Given the description of an element on the screen output the (x, y) to click on. 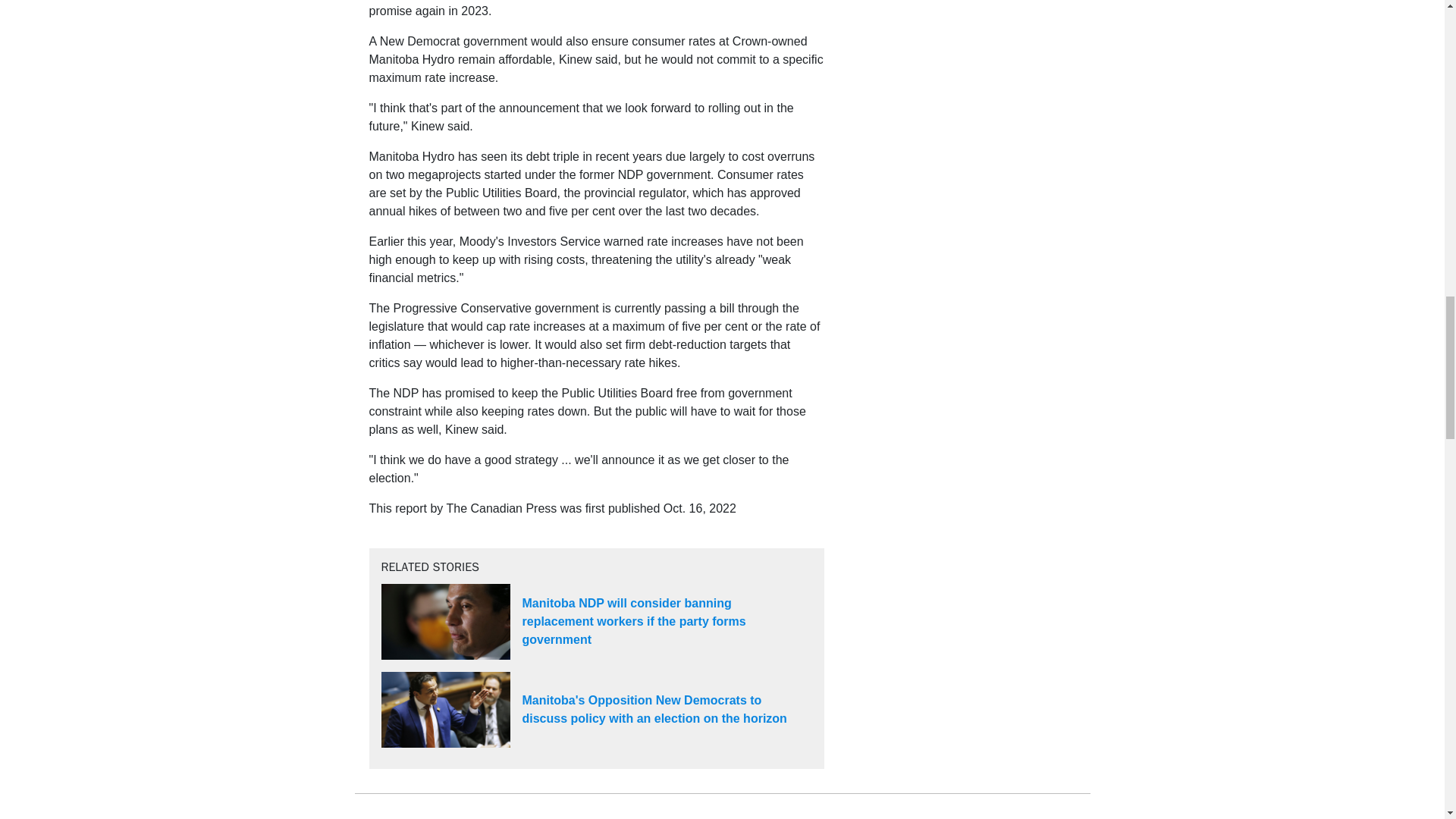
3rd party ad content (961, 18)
